Given the description of an element on the screen output the (x, y) to click on. 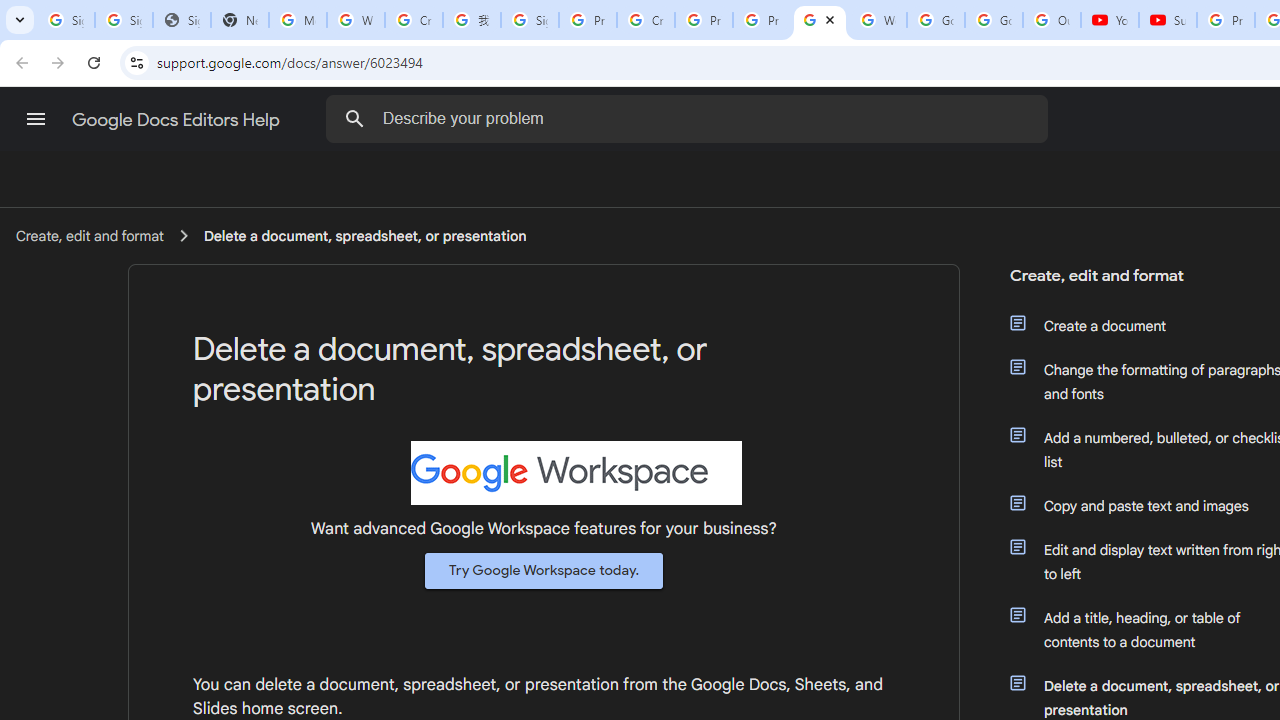
Subscriptions - YouTube (1167, 20)
Describe your problem (689, 118)
Delete a document, spreadsheet, or presentation (365, 235)
New Tab (239, 20)
Who is my administrator? - Google Account Help (355, 20)
